Given the description of an element on the screen output the (x, y) to click on. 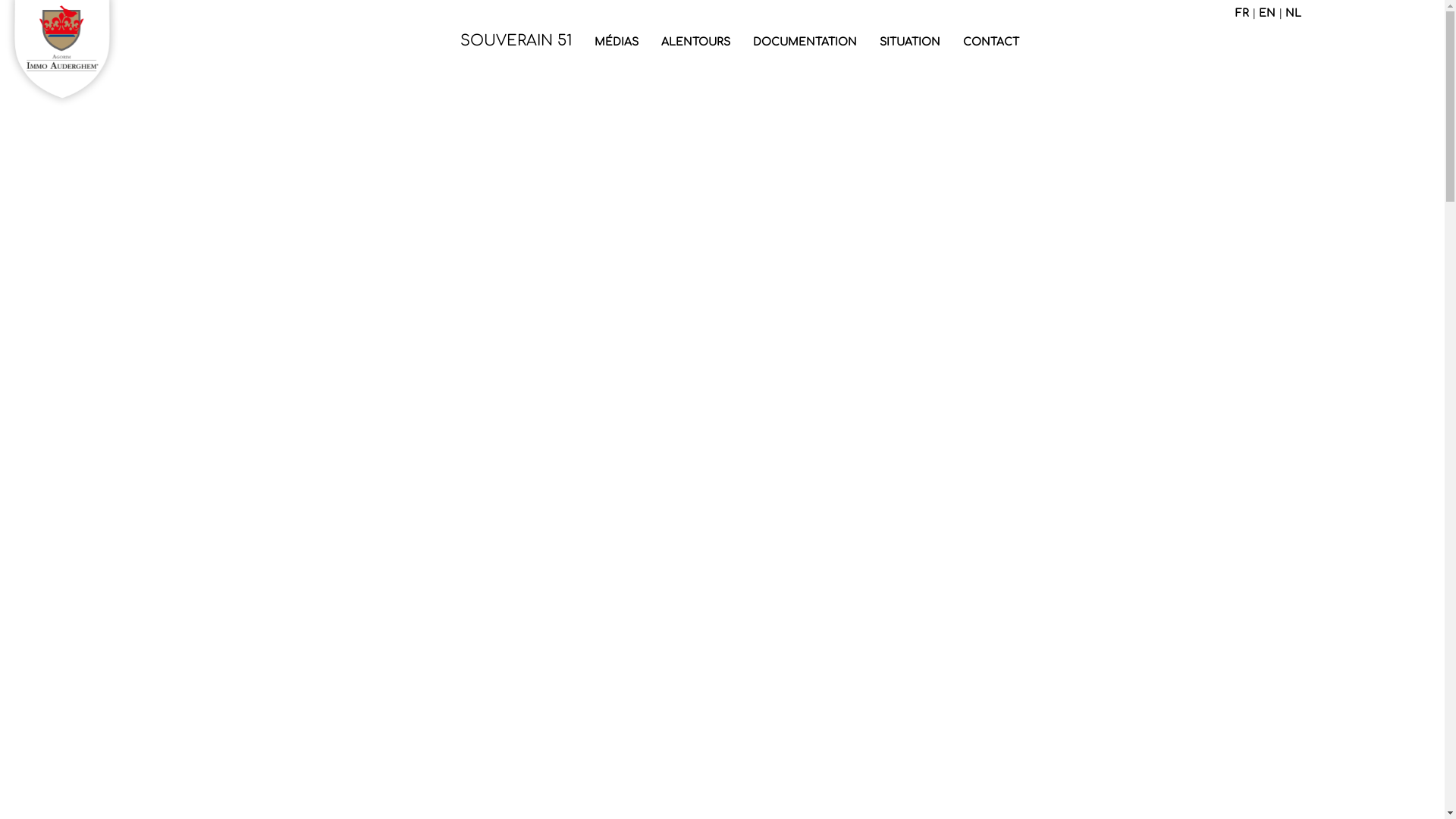
EN Element type: text (1266, 12)
FR Element type: text (1241, 12)
DOCUMENTATION Element type: text (804, 42)
SITUATION Element type: text (908, 42)
SOUVERAIN 51 Element type: text (515, 48)
CONTACT Element type: text (989, 42)
NL Element type: text (1293, 12)
ALENTOURS Element type: text (694, 42)
